Given the description of an element on the screen output the (x, y) to click on. 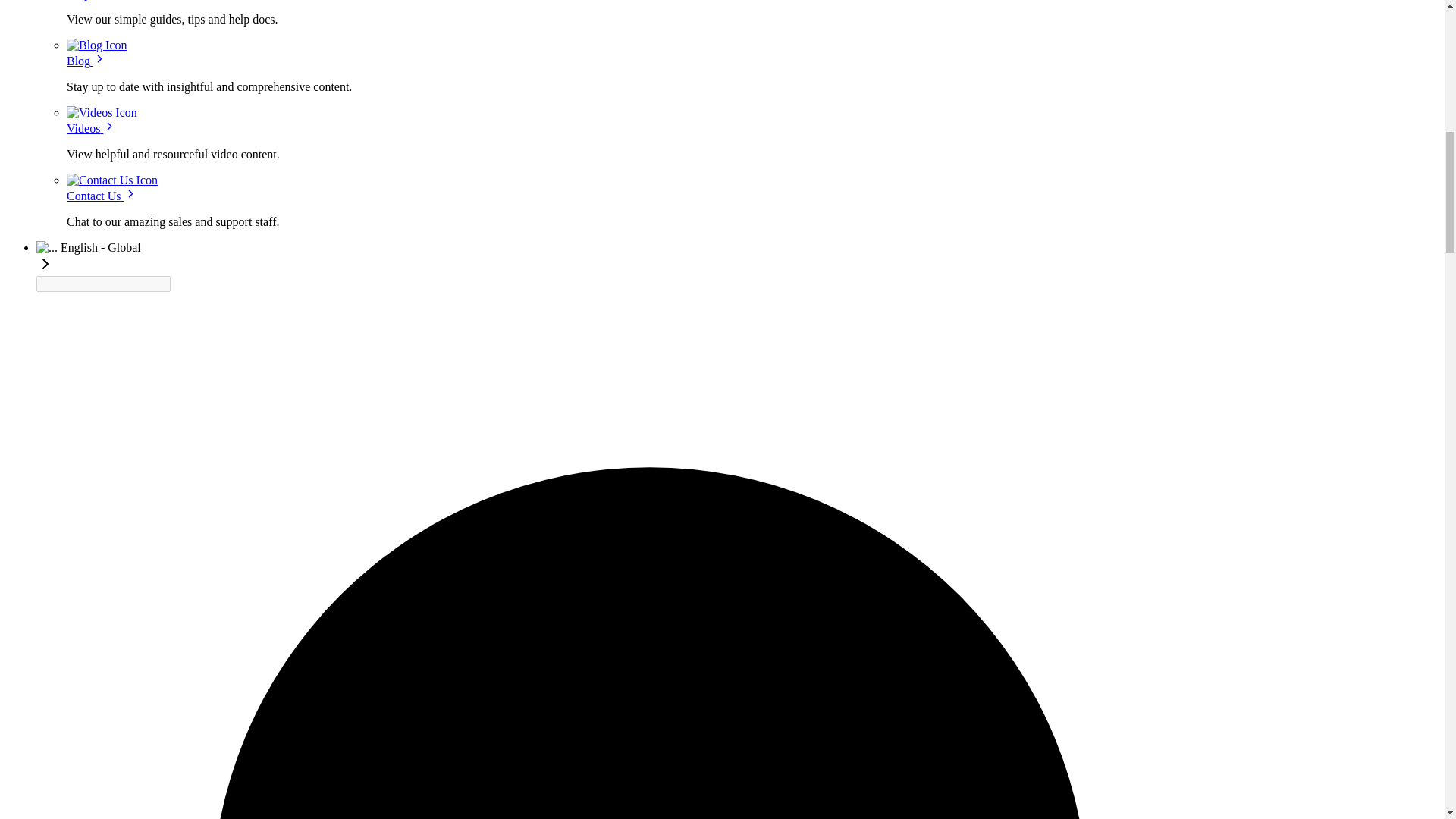
Videos (91, 128)
Contact Us (101, 195)
Blog (86, 60)
